Given the description of an element on the screen output the (x, y) to click on. 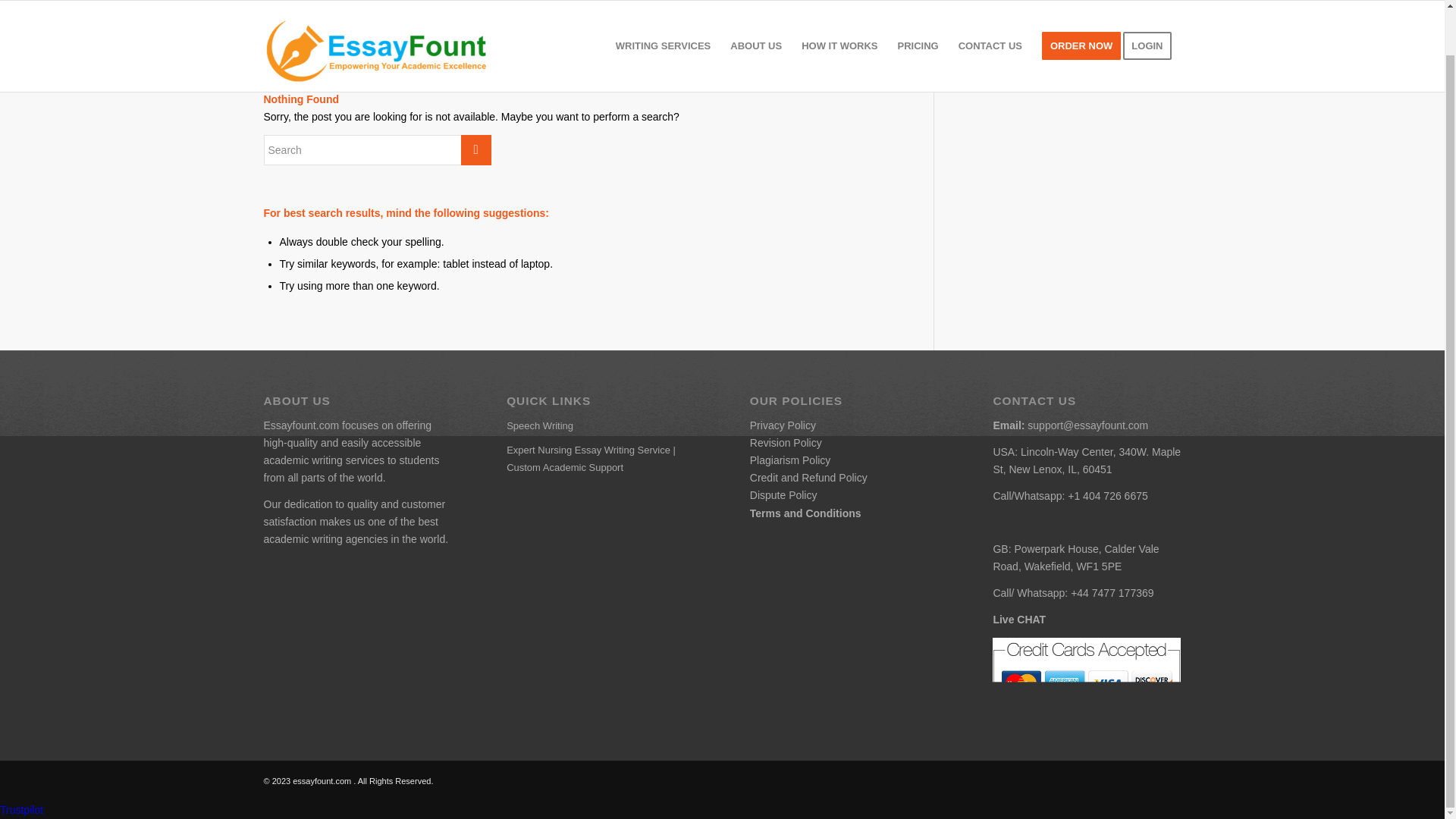
CONTACT US (990, 22)
Dispute Policy (782, 494)
WRITING SERVICES (662, 22)
Plagiarism Policy (790, 460)
PRICING (918, 22)
Terms and Conditions (805, 512)
Trustpilot (21, 809)
HOW IT WORKS (839, 22)
ABOUT US (756, 22)
Privacy Policy (782, 425)
